Given the description of an element on the screen output the (x, y) to click on. 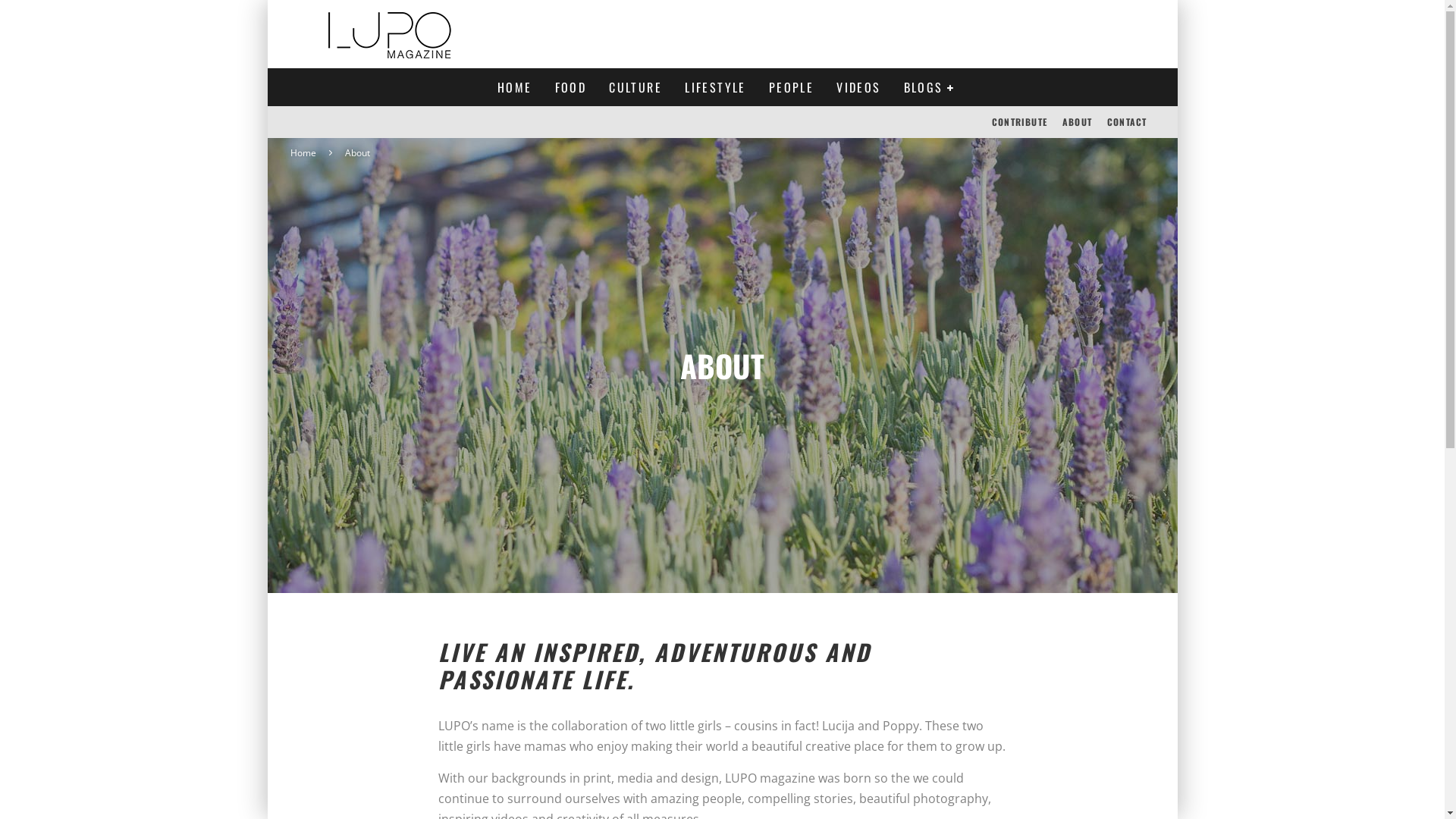
LIFESTYLE Element type: text (715, 87)
Home Element type: text (302, 152)
CONTACT Element type: text (1126, 122)
VIDEOS Element type: text (858, 87)
FOOD Element type: text (570, 87)
HOME Element type: text (514, 87)
CULTURE Element type: text (635, 87)
CONTRIBUTE Element type: text (1019, 122)
BLOGS Element type: text (929, 87)
PEOPLE Element type: text (791, 87)
ABOUT Element type: text (1076, 122)
